Given the description of an element on the screen output the (x, y) to click on. 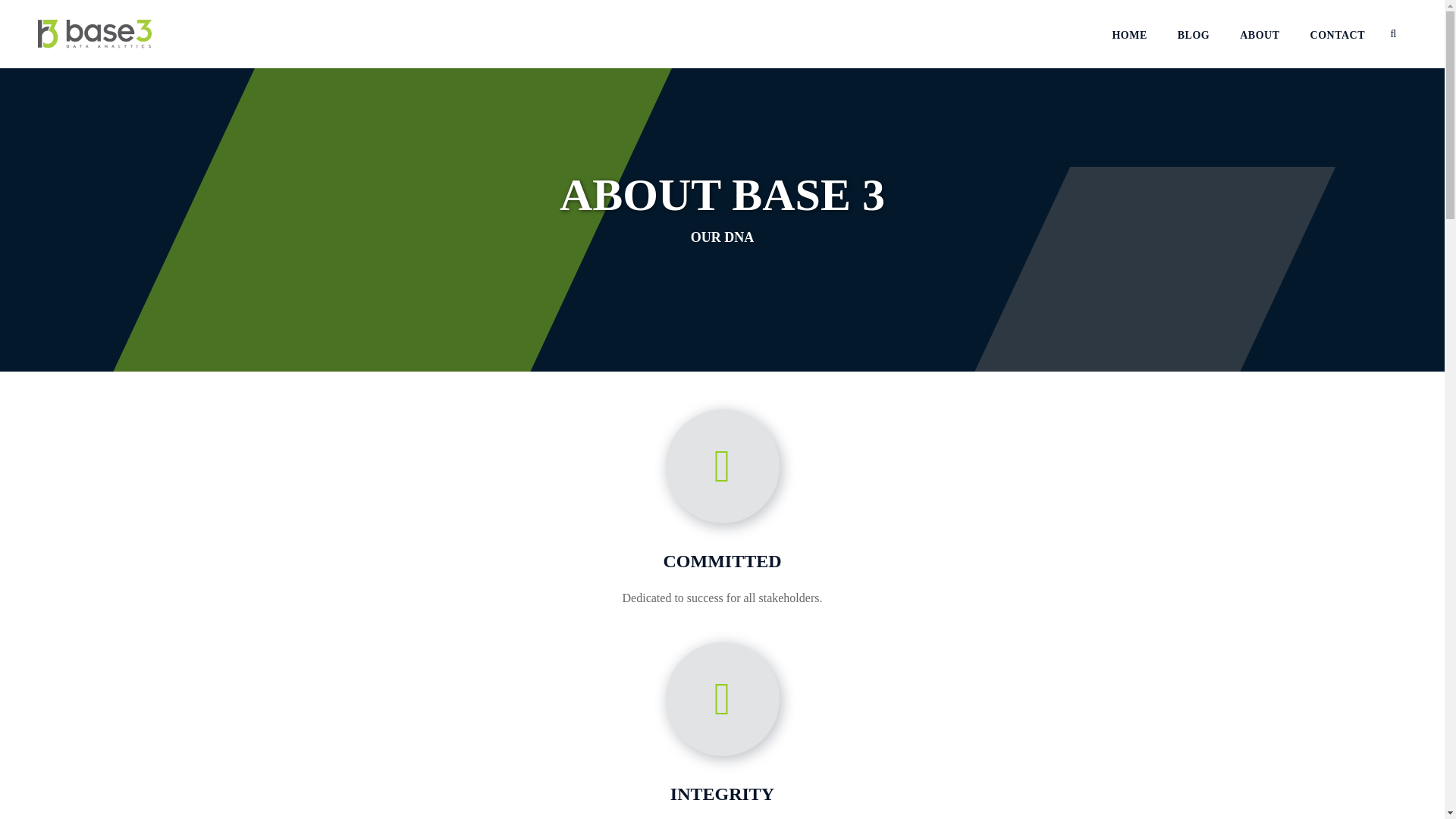
CONTACT Element type: text (1337, 35)
HOME Element type: text (1128, 35)
BLOG Element type: text (1193, 35)
ABOUT Element type: text (1259, 35)
